Given the description of an element on the screen output the (x, y) to click on. 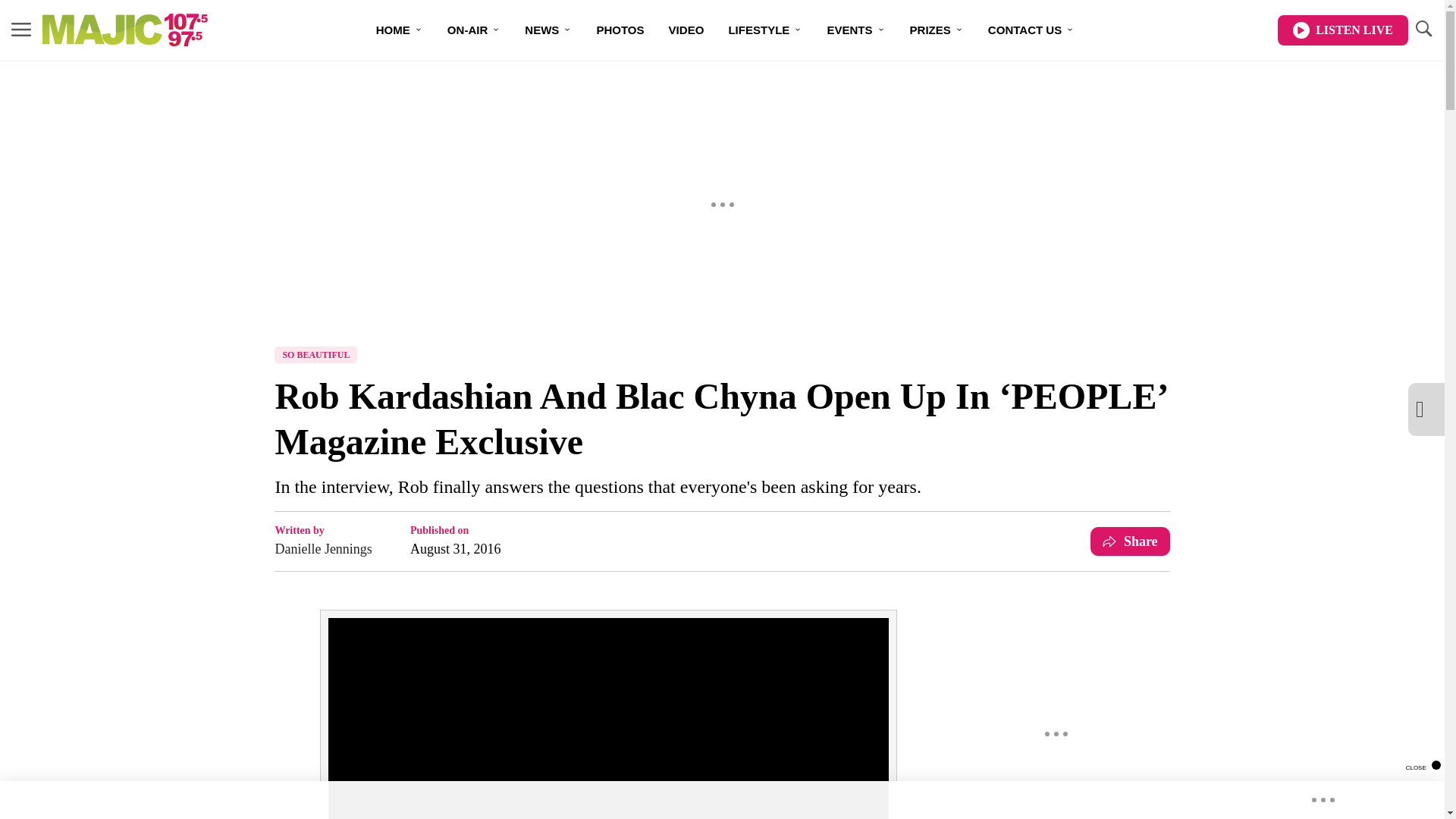
EVENTS (854, 30)
HOME (399, 30)
PRIZES (936, 30)
TOGGLE SEARCH (1422, 30)
CONTACT US (1030, 30)
NEWS (547, 30)
PHOTOS (619, 30)
MENU (20, 30)
TOGGLE SEARCH (1422, 28)
VIDEO (686, 30)
